Given the description of an element on the screen output the (x, y) to click on. 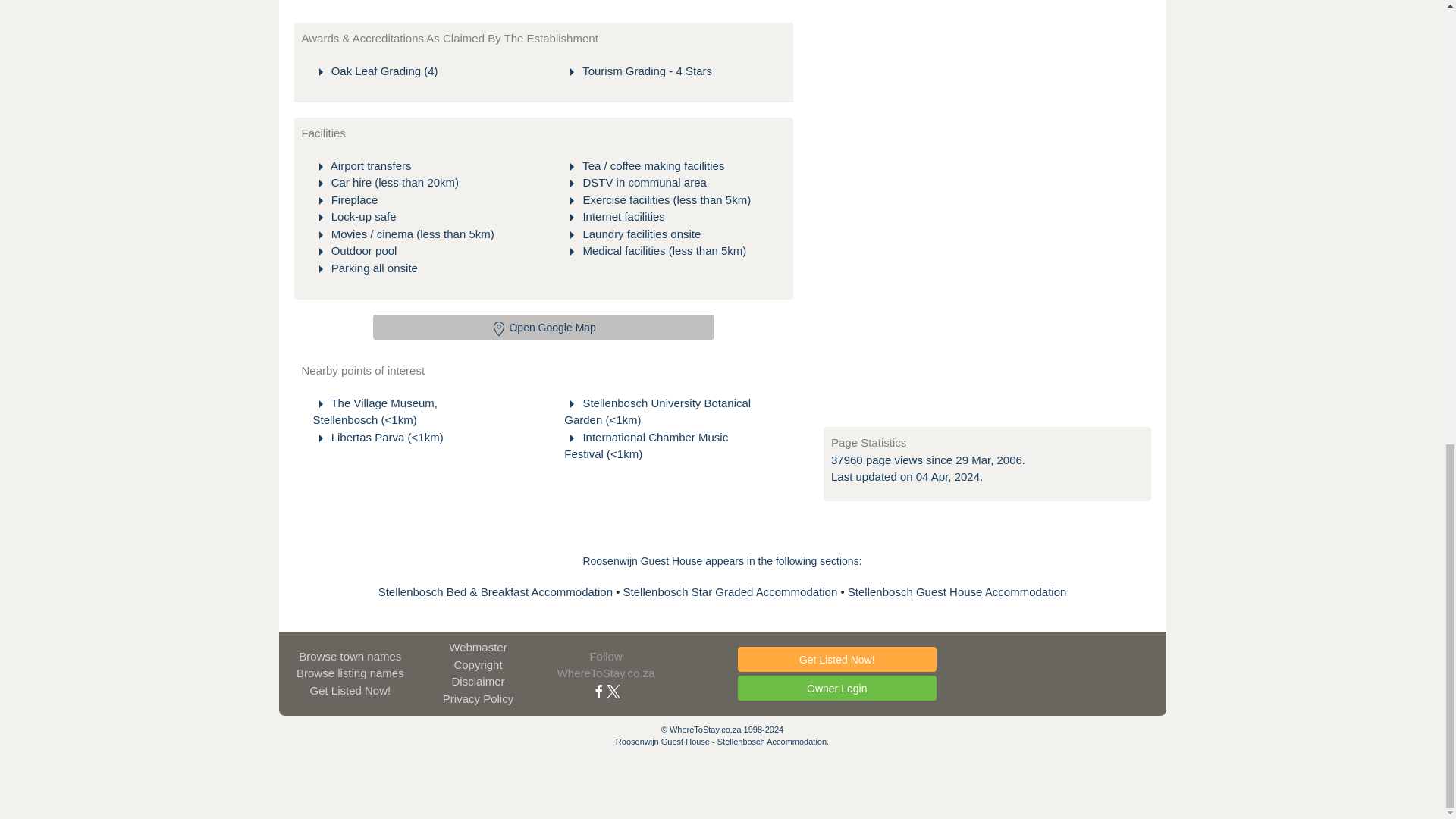
Facebook (599, 689)
Stellenbosch Guest House Accommodation (957, 591)
Stellenbosch Star Graded Accommodation (732, 591)
